Given the description of an element on the screen output the (x, y) to click on. 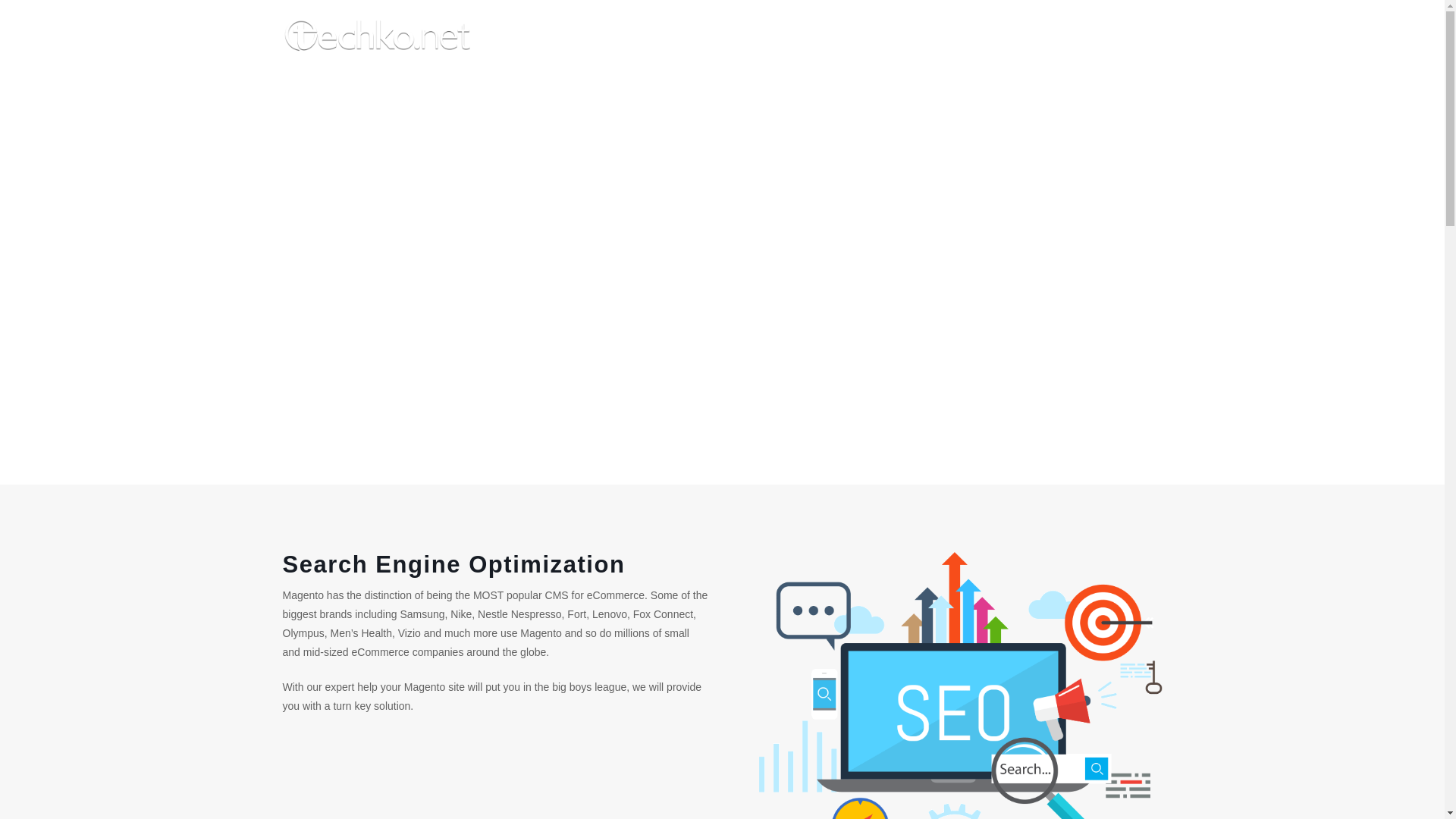
SERVICES (673, 29)
PORTFOLIO (767, 29)
Techko Net (376, 44)
REQUEST A QUOTE (721, 29)
ABOUT US (890, 29)
HOME (1010, 29)
CONTACT US (598, 29)
Search Engine Optimization (1108, 29)
